Given the description of an element on the screen output the (x, y) to click on. 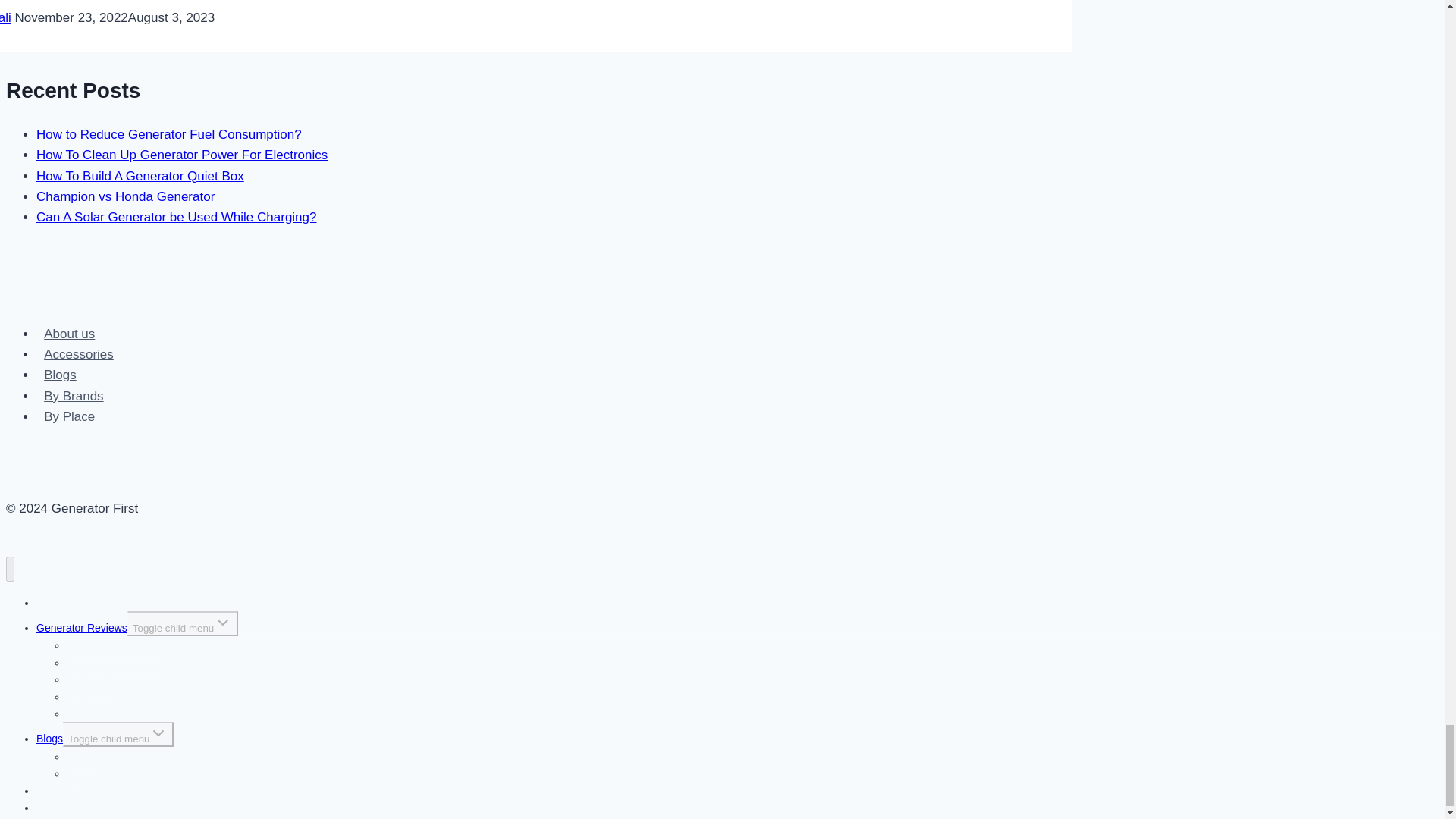
Expand (222, 622)
Expand (158, 732)
